Given the description of an element on the screen output the (x, y) to click on. 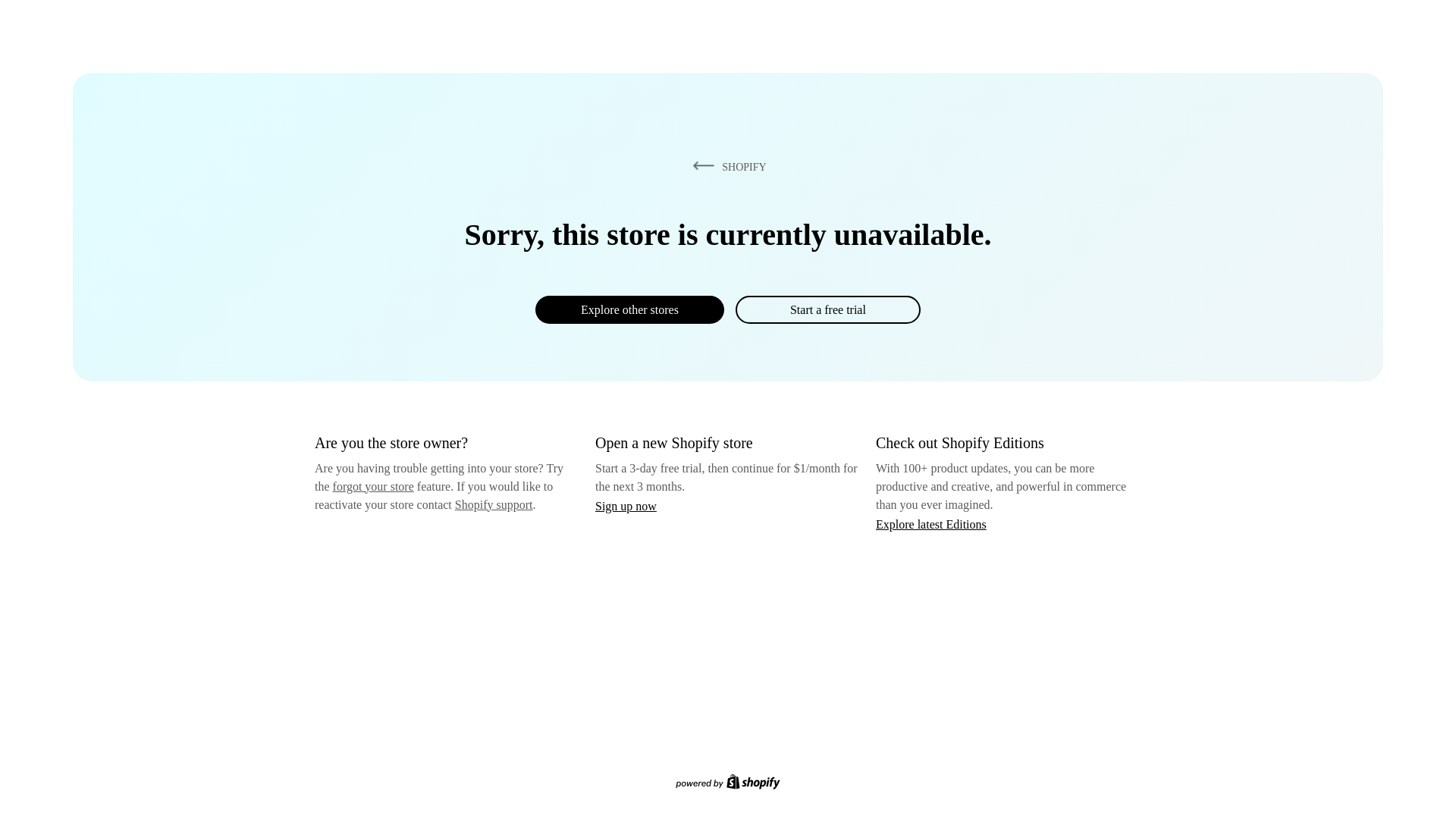
SHOPIFY (726, 166)
Explore other stores (629, 309)
Explore latest Editions (931, 523)
Start a free trial (827, 309)
Sign up now (625, 505)
forgot your store (373, 486)
Shopify support (493, 504)
